Given the description of an element on the screen output the (x, y) to click on. 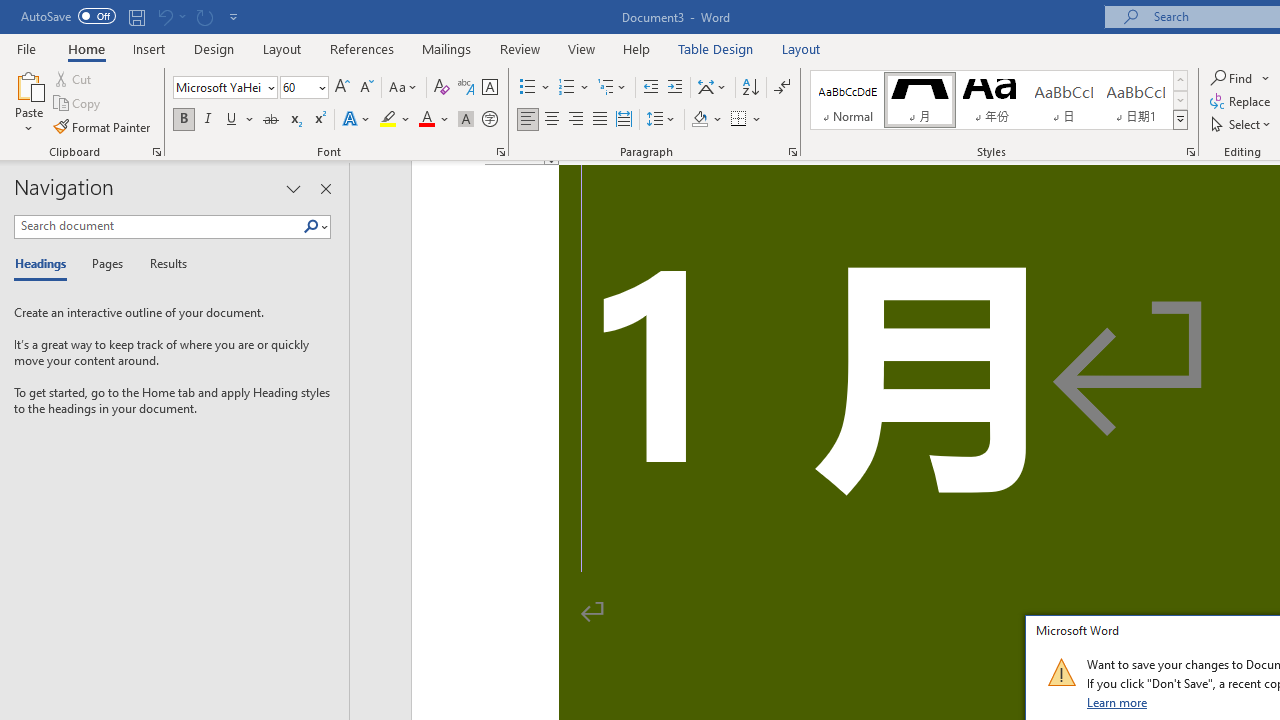
Quick Access Toolbar (131, 16)
Cut (73, 78)
Clear Formatting (442, 87)
Row Down (1179, 100)
Text Effects and Typography (357, 119)
Font Size (297, 87)
Paste (28, 84)
Learn more (1118, 702)
Strikethrough (270, 119)
References (362, 48)
Help (637, 48)
Center (552, 119)
Grow Font (342, 87)
Character Border (489, 87)
